Given the description of an element on the screen output the (x, y) to click on. 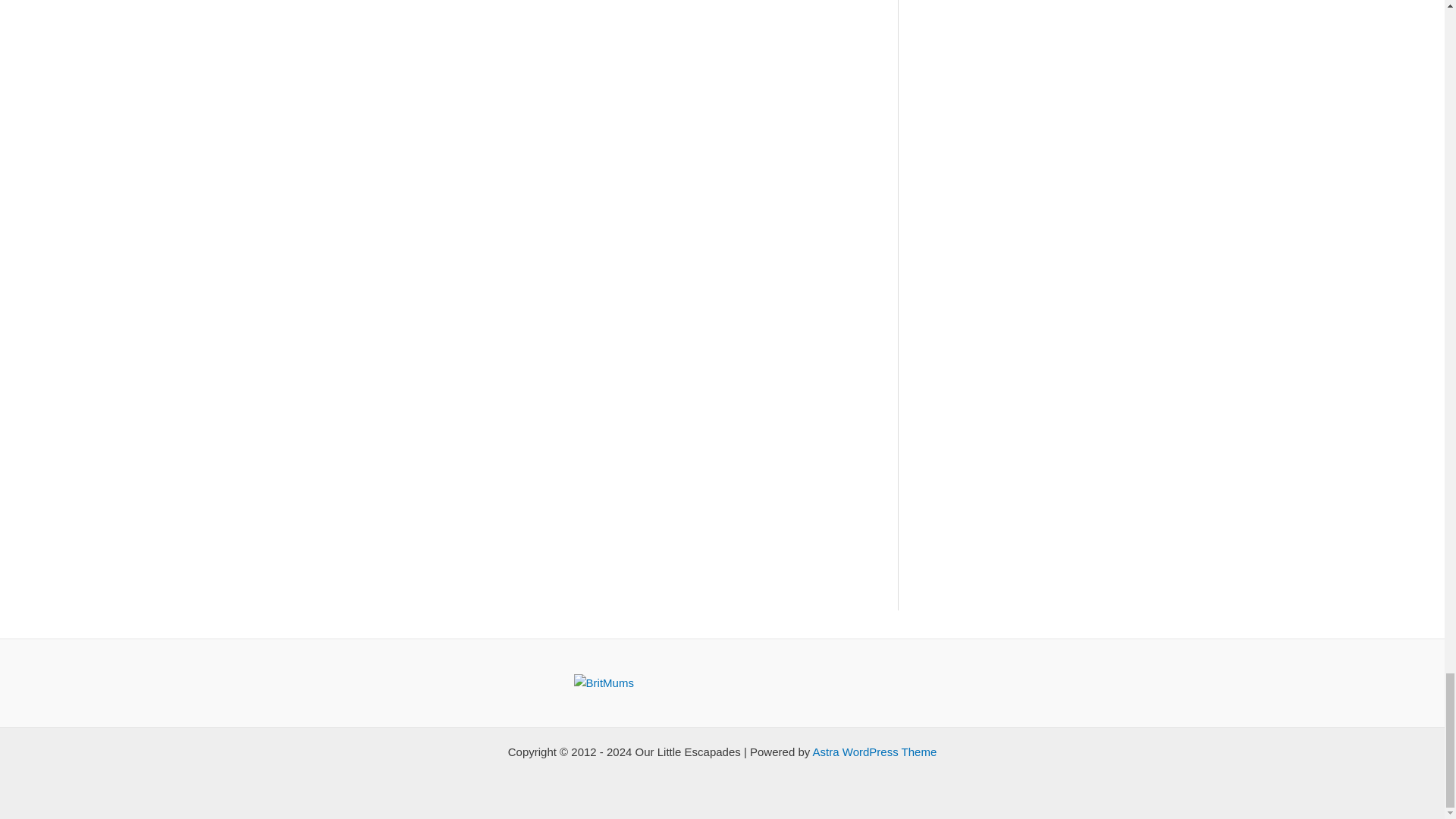
BritMums (603, 681)
